Given the description of an element on the screen output the (x, y) to click on. 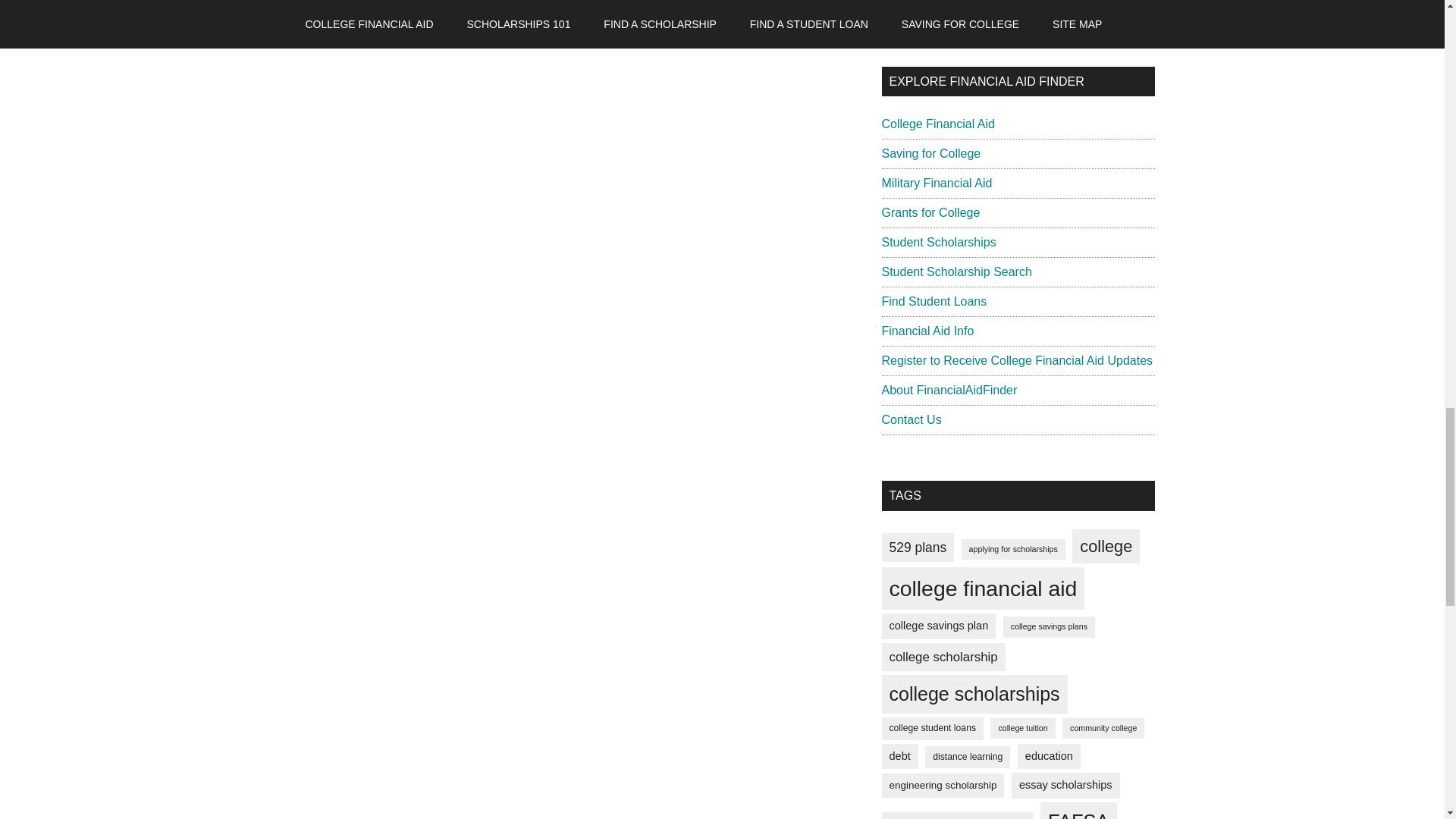
College Financial Aid (937, 123)
Find Student Loans (933, 300)
Financial Aid Info (927, 330)
Grants for College (929, 212)
Register to Receive College Financial Aid Updates (1016, 359)
Military Financial Aid (935, 182)
Student Scholarship Search (955, 271)
About FinancialAidFinder (948, 390)
Saving for College (929, 153)
Student Scholarships (937, 241)
